Given the description of an element on the screen output the (x, y) to click on. 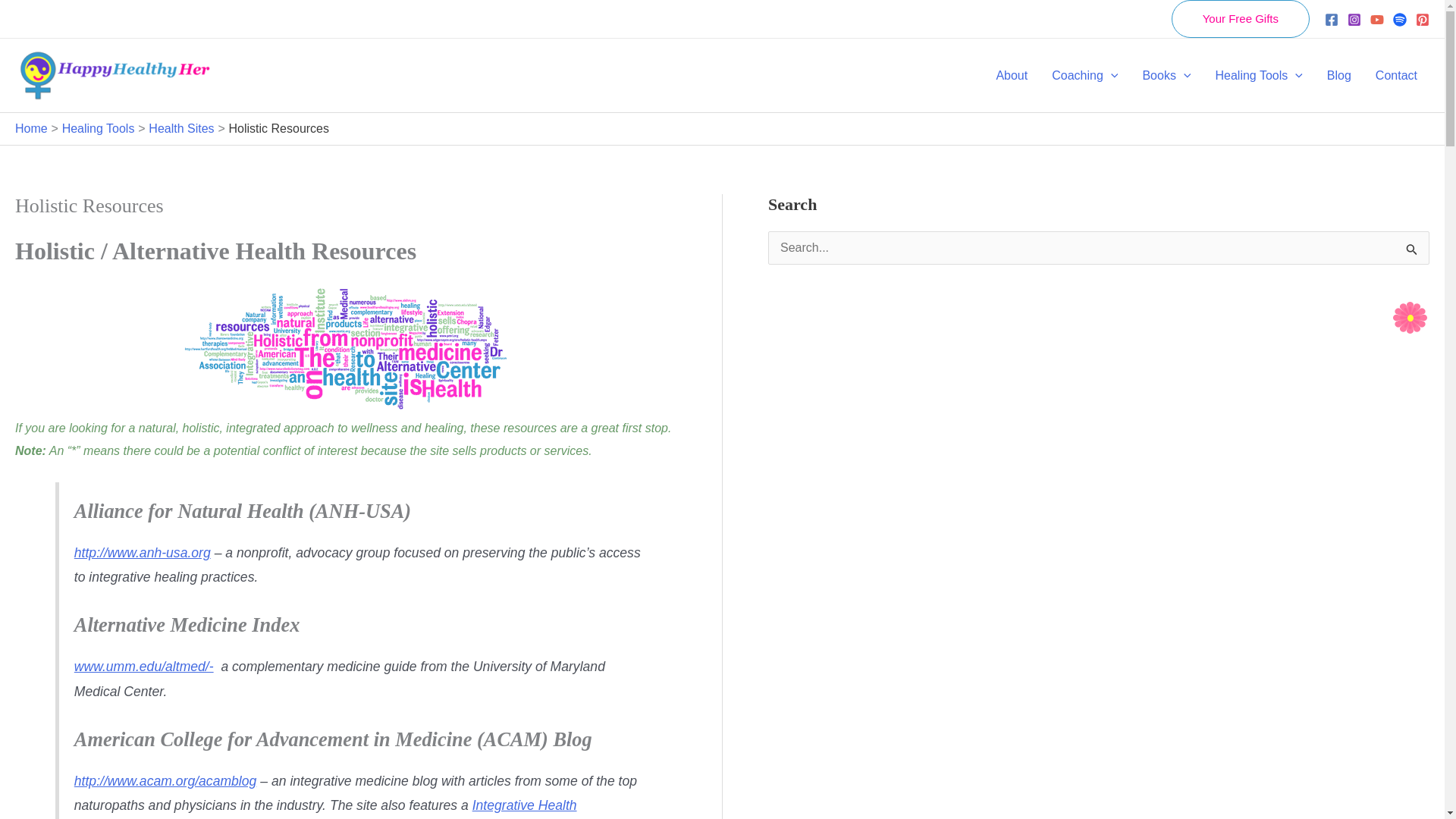
Contact (1395, 74)
Your Free Gifts (1240, 18)
About (1011, 74)
Coaching (1084, 74)
Healing Tools (1258, 74)
Blog (1338, 74)
Books (1165, 74)
HolisticResourcesWordle (345, 348)
